Given the description of an element on the screen output the (x, y) to click on. 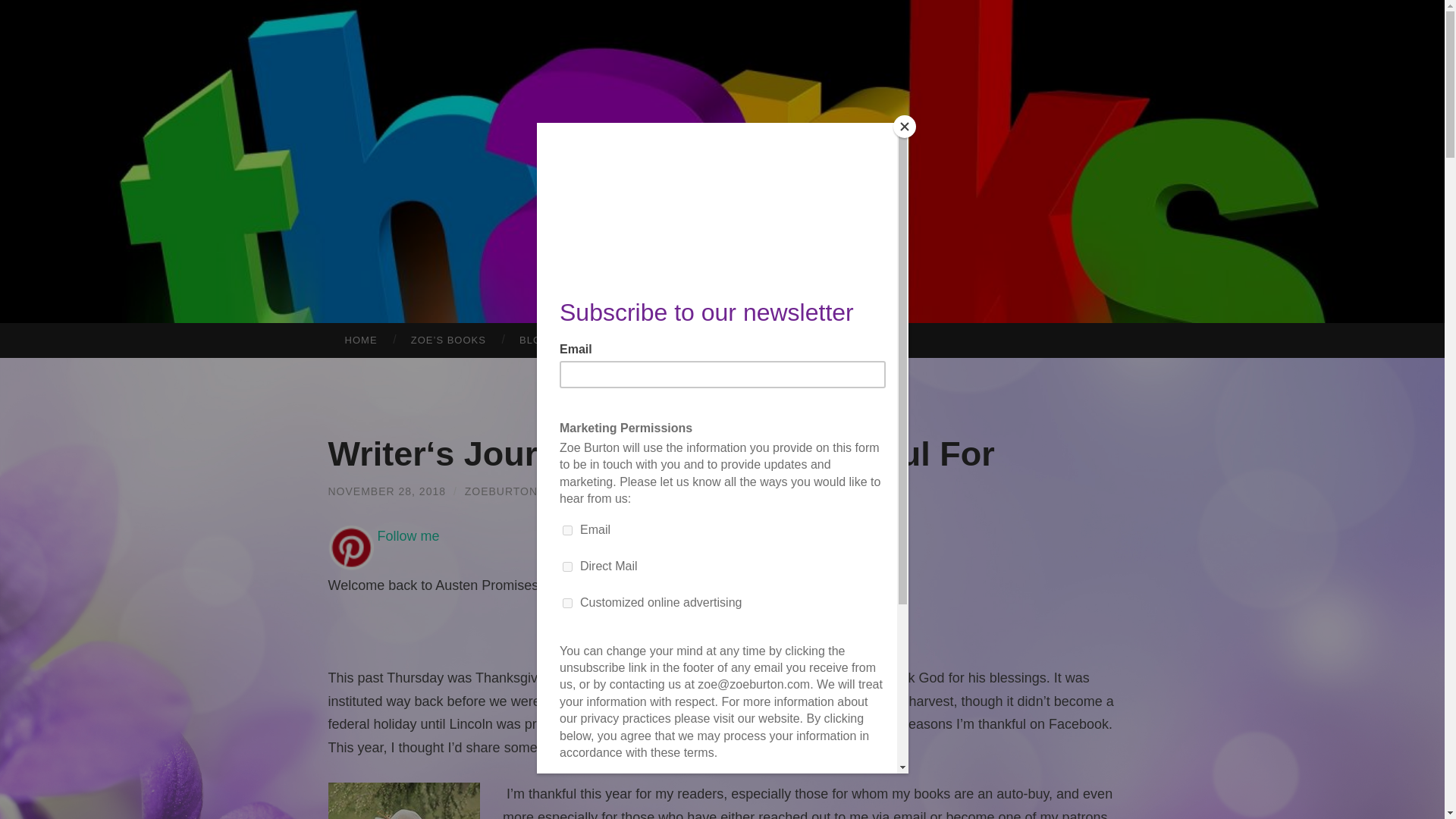
BLOG (534, 339)
AUTHOR SERVICES (792, 339)
ZOEBURTONAUTHOR (526, 491)
CONTACT (609, 339)
SKIP TO CONTENT (16, 334)
HOME (360, 339)
ABOUT (687, 339)
Follow me (408, 535)
NOVEMBER 28, 2018 (386, 491)
